Given the description of an element on the screen output the (x, y) to click on. 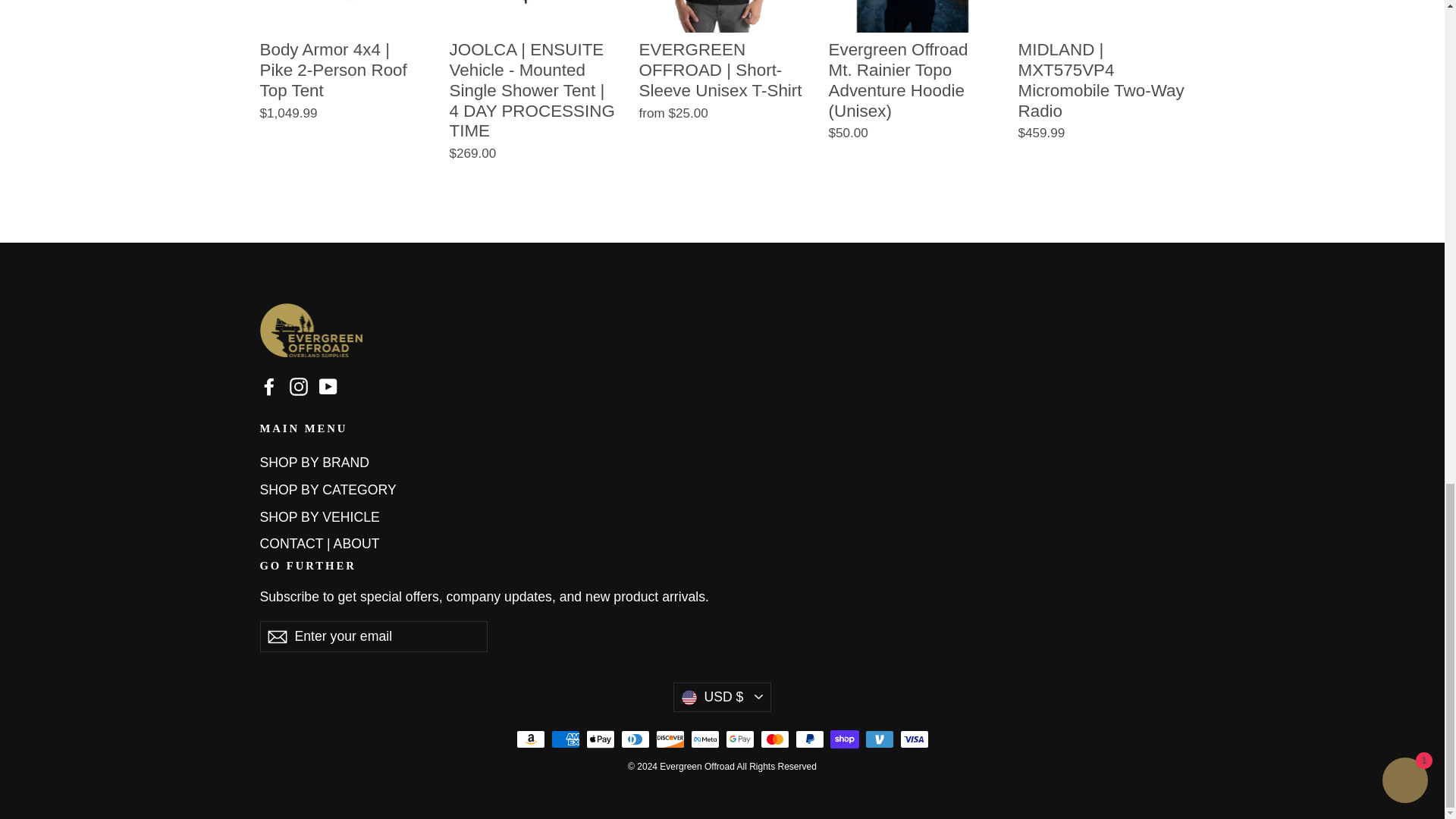
Evergreen Offroad on Instagram (298, 386)
Amazon (529, 739)
American Express (564, 739)
Apple Pay (599, 739)
Evergreen Offroad on YouTube (327, 386)
Evergreen Offroad on Facebook (268, 386)
Diners Club (634, 739)
